Given the description of an element on the screen output the (x, y) to click on. 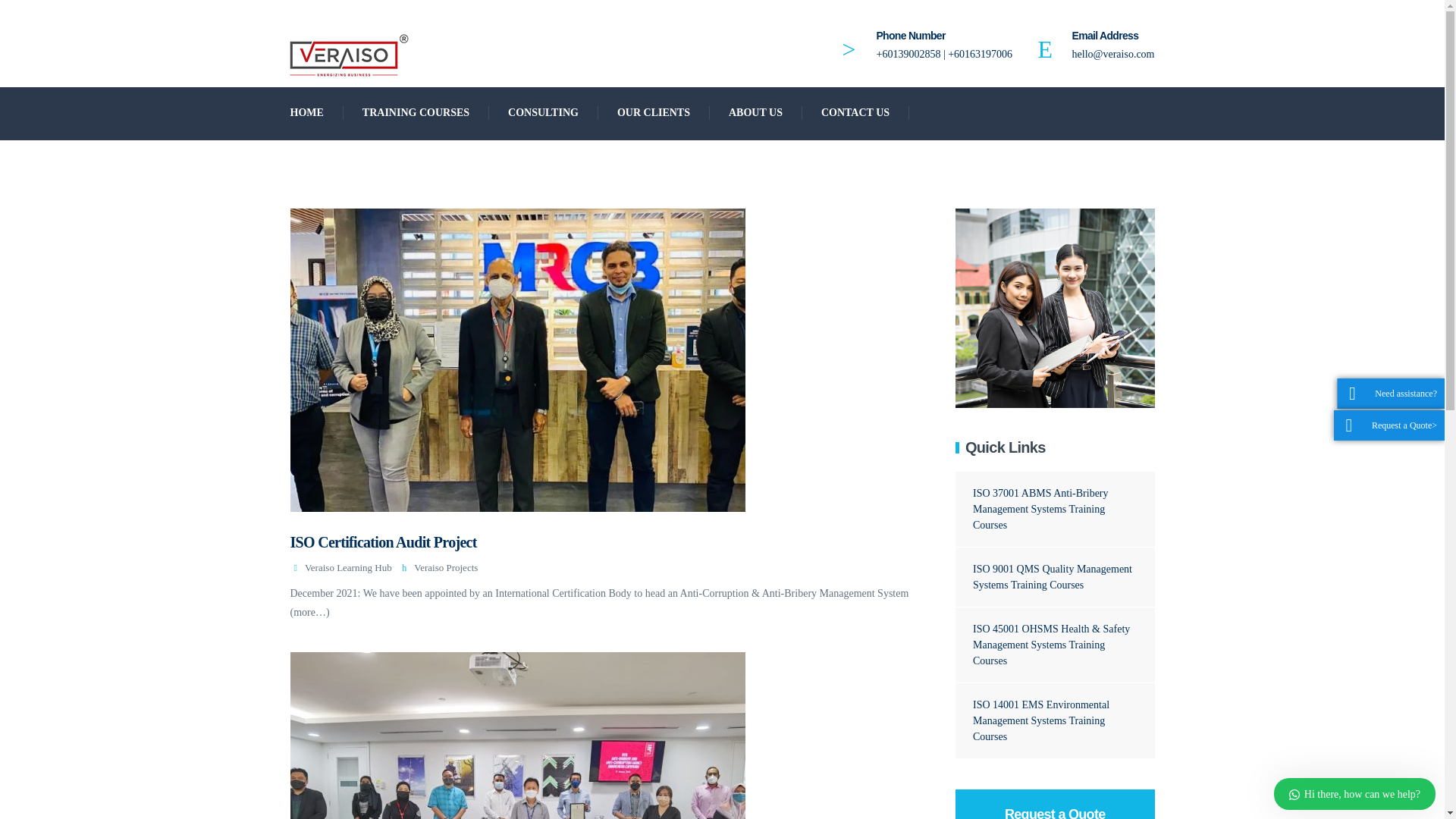
View all posts by Veraiso Learning Hub (347, 567)
CONTACT US (855, 112)
ABOUT US (756, 112)
CONSULTING (543, 112)
TRAINING COURSES (416, 112)
HOME (306, 112)
OUR CLIENTS (654, 112)
